Given the description of an element on the screen output the (x, y) to click on. 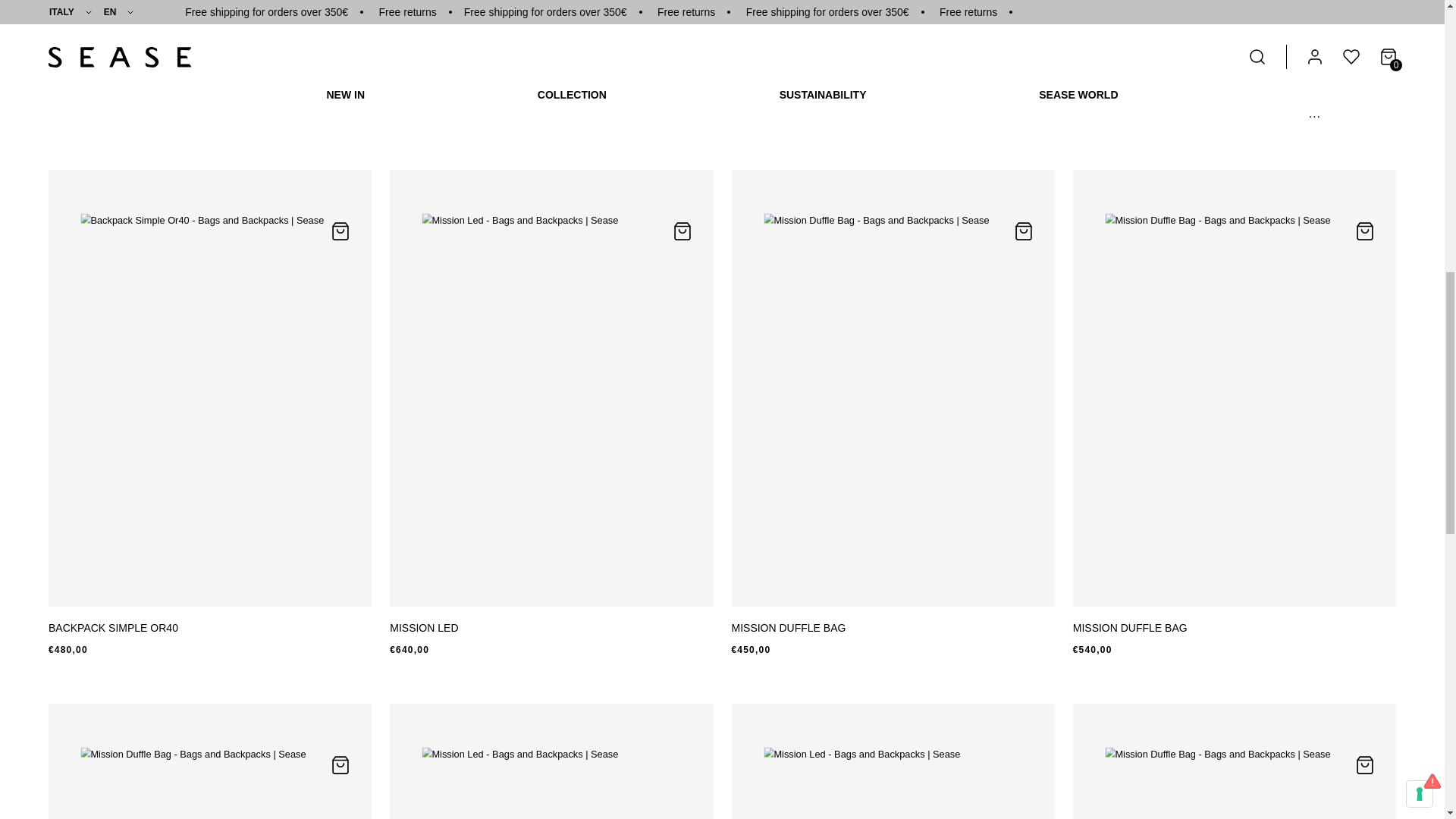
Bags and Backpacks (118, 48)
Shoes (351, 48)
TODO (65, 111)
Accessories (219, 111)
Collection (130, 111)
Bags and Backpacks (339, 111)
Hats and Caps (256, 48)
